Given the description of an element on the screen output the (x, y) to click on. 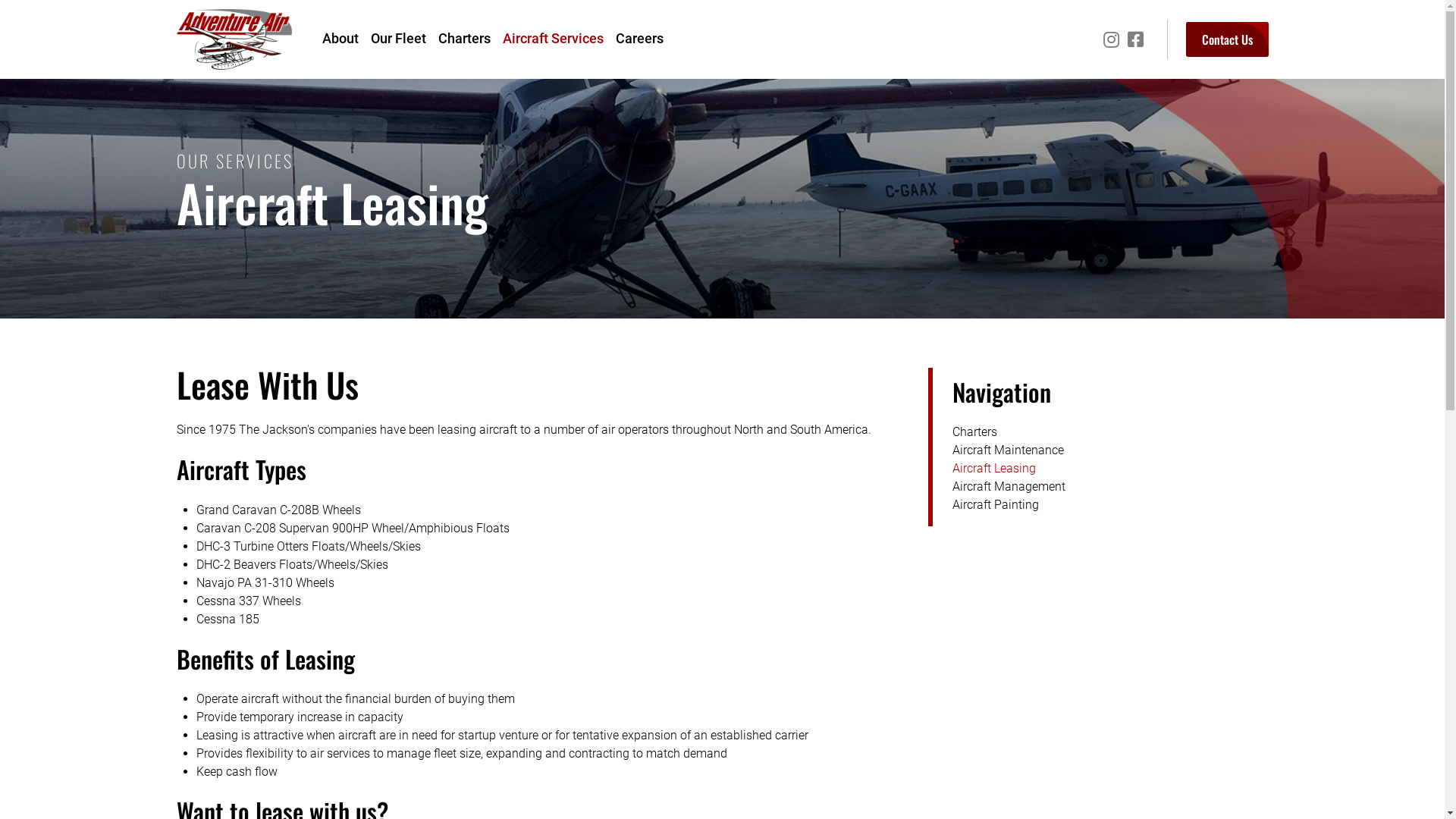
Aircraft Maintenance Element type: text (1109, 450)
Careers Element type: text (639, 39)
Aircraft Services Element type: text (551, 39)
Contact Us Element type: text (1227, 38)
Charters Element type: text (464, 39)
Aircraft Management Element type: text (1109, 486)
Charters Element type: text (1109, 432)
Aircraft Painting Element type: text (1109, 504)
About Element type: text (339, 39)
Our Fleet Element type: text (397, 39)
Aircraft Leasing Element type: text (1109, 468)
